Given the description of an element on the screen output the (x, y) to click on. 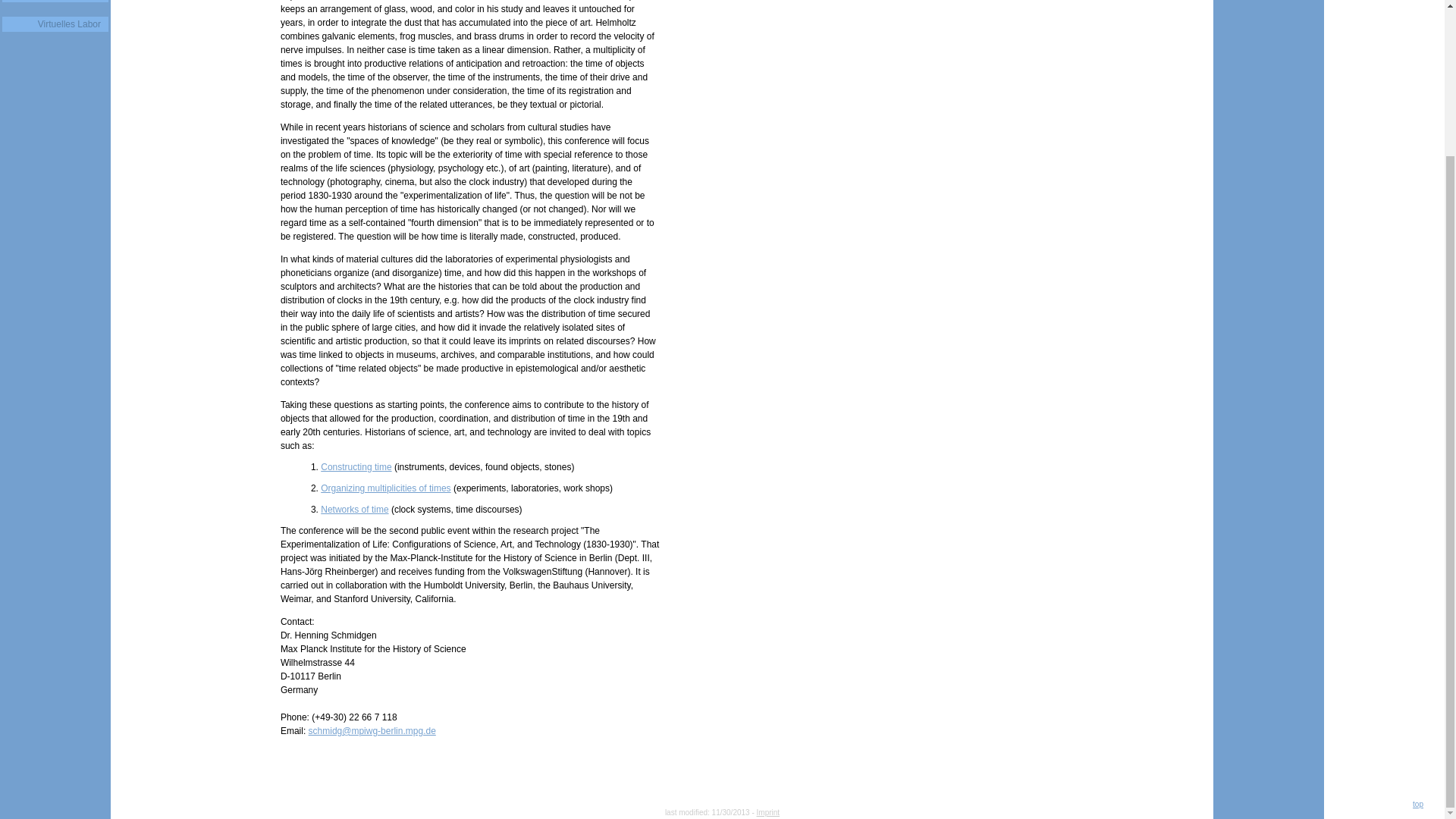
Constructing time (355, 466)
Virtuelles Labor (54, 23)
top (1417, 804)
Presse (54, 1)
Organizing multiplicities of times (384, 488)
Networks of time (354, 509)
Imprint (768, 812)
